Given the description of an element on the screen output the (x, y) to click on. 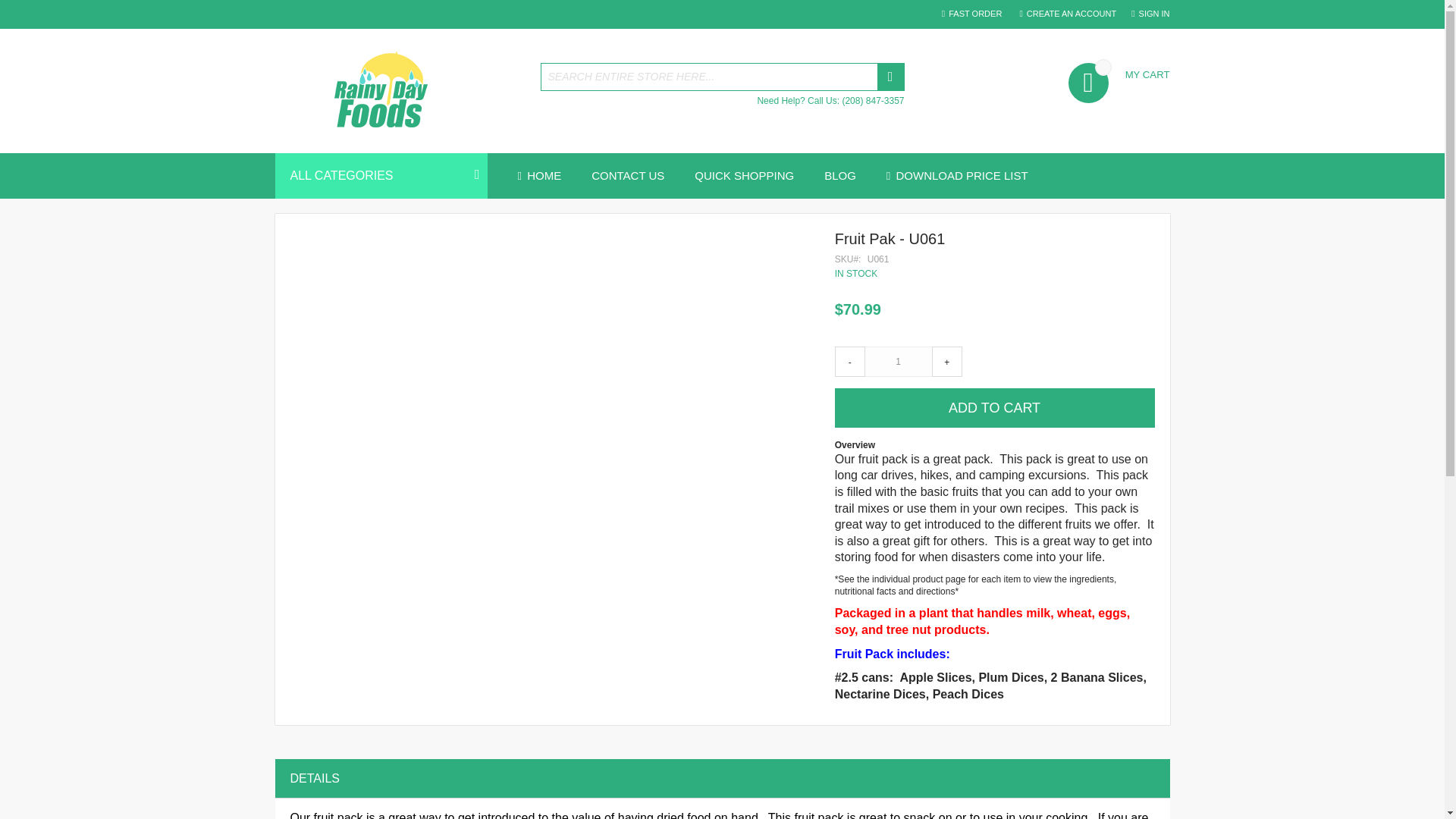
Availability (994, 273)
Banana Slices (1101, 676)
Add to Cart (994, 407)
1 (898, 361)
Rainy Day Foods - A leading supplier of food storage. (399, 90)
DOWNLOAD PRICE LIST (956, 176)
Search (889, 76)
SIGN IN (1150, 13)
MY CART (1119, 72)
CREATE AN ACCOUNT (1067, 13)
FAST ORDER (971, 13)
- (849, 361)
Plum Dices (1010, 676)
CONTACT US (627, 176)
Nectarine Dices (880, 694)
